Given the description of an element on the screen output the (x, y) to click on. 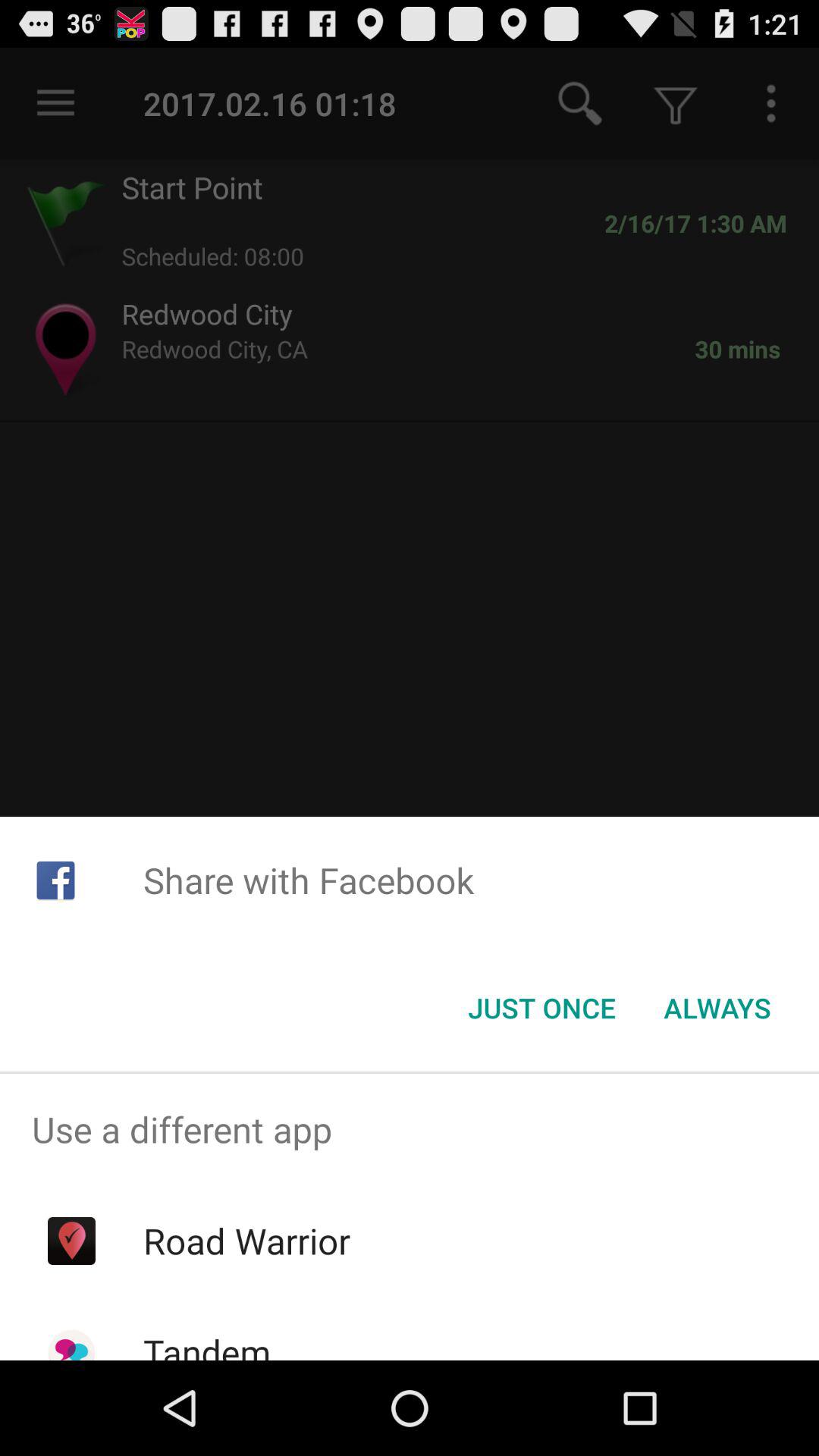
choose the icon next to always icon (541, 1007)
